Given the description of an element on the screen output the (x, y) to click on. 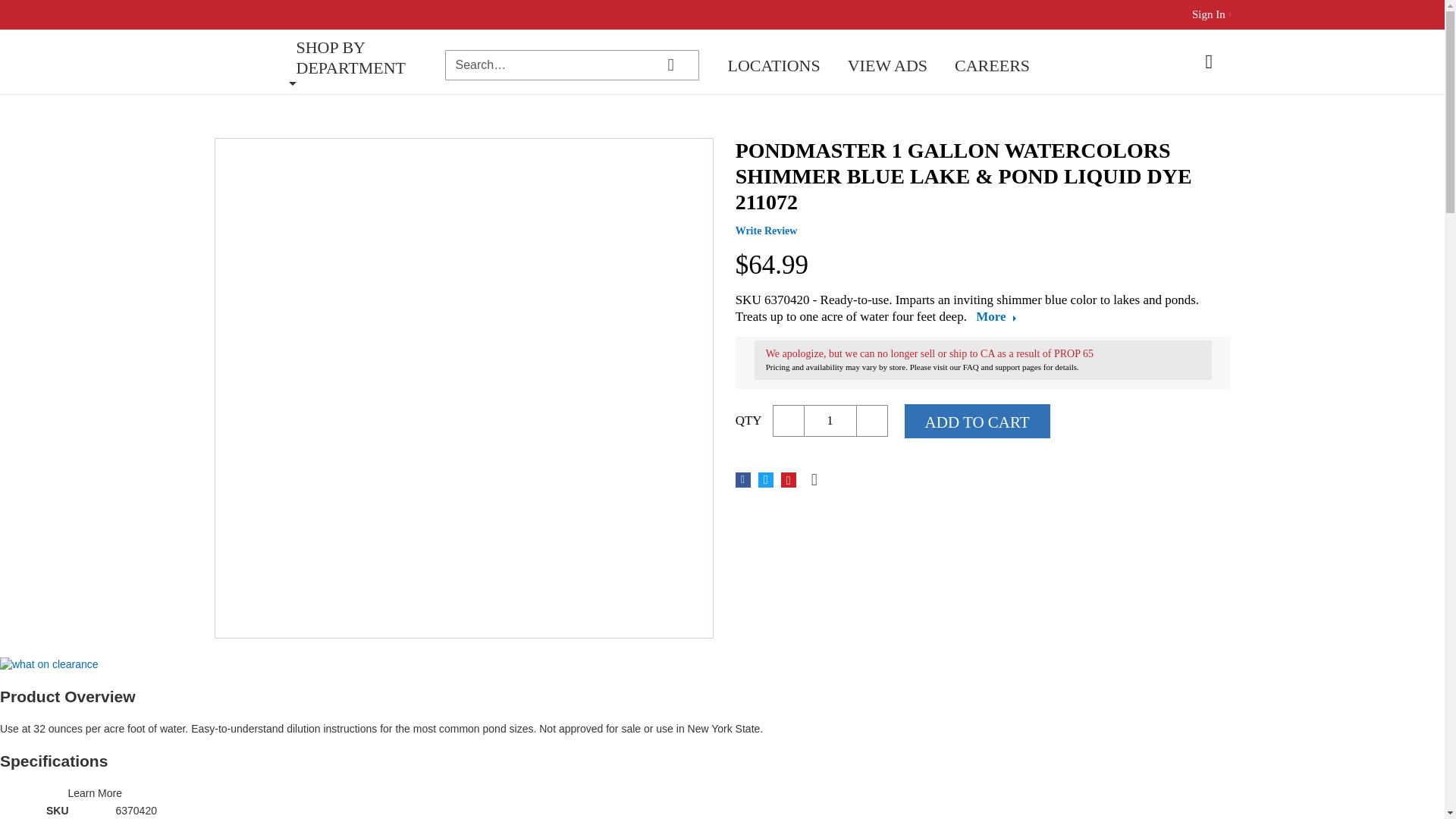
logo, call 217-214-9448 for assistance (248, 63)
1 (830, 420)
Sign In (1208, 14)
SHOP BY DEPARTMENT (365, 56)
